Given the description of an element on the screen output the (x, y) to click on. 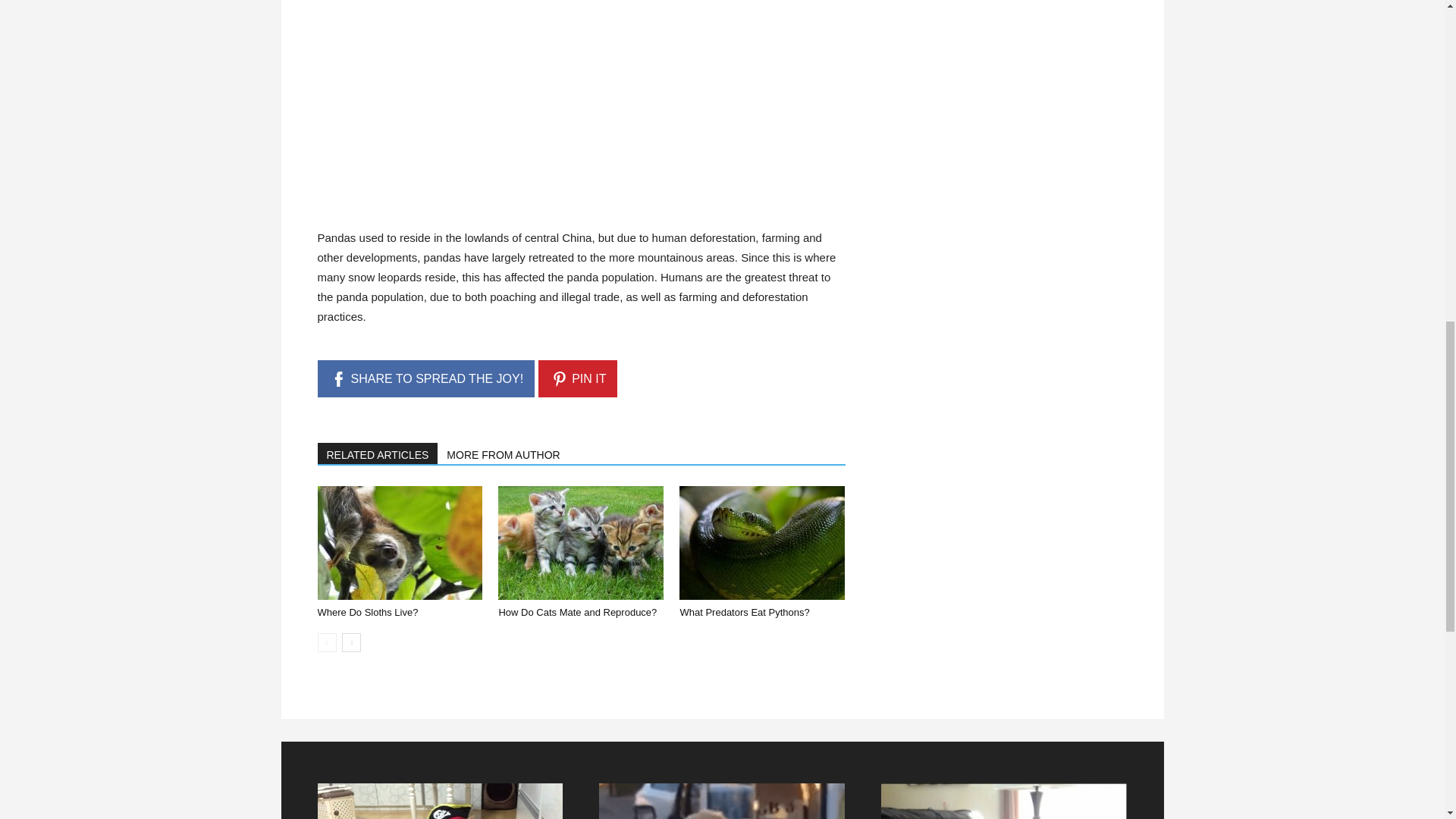
Where Do Sloths Live? (367, 612)
What Predators Eat Pythons? (744, 612)
What Predators Eat Pythons? (761, 542)
Where Do Sloths Live? (367, 612)
How Do Cats Mate and Reproduce? (580, 542)
SHARE TO SPREAD THE JOY! (425, 378)
PIN IT (577, 378)
MORE FROM AUTHOR (503, 453)
What Predators Eat Pythons? (744, 612)
Where Do Sloths Live? (399, 542)
How Do Cats Mate and Reproduce? (576, 612)
How Do Cats Mate and Reproduce? (576, 612)
Advertisement (430, 126)
RELATED ARTICLES (377, 453)
bottomFacebookLike (430, 430)
